Given the description of an element on the screen output the (x, y) to click on. 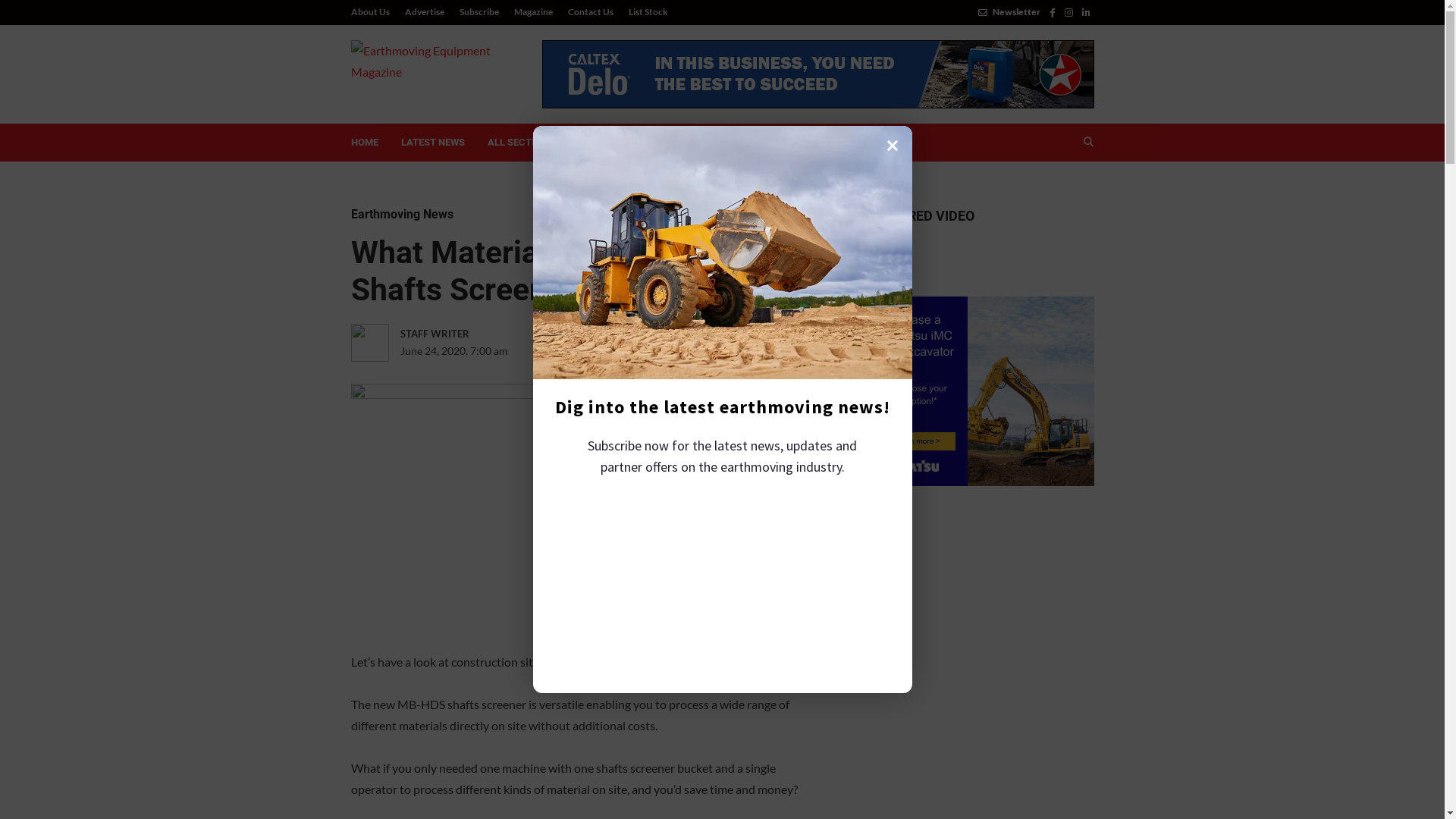
STAFF WRITER Element type: text (465, 333)
3rd party ad content Element type: hover (817, 74)
Subscribe Element type: text (478, 11)
Share on Facebook Element type: hover (604, 350)
Share on Copy Link Element type: hover (759, 350)
List Stock Element type: text (643, 11)
Earthmoving News Element type: text (401, 214)
Close Element type: hover (892, 144)
Newsletter Signup Element type: hover (979, 683)
CASE STUDY Element type: text (784, 142)
Share on Email Element type: hover (728, 350)
Newsletter Element type: text (1009, 11)
ON THE COVER Element type: text (698, 142)
3rd party ad content Element type: hover (979, 391)
Share on Print Element type: hover (697, 350)
Advertise Element type: text (424, 11)
ALL SECTIONS Element type: text (528, 142)
MARKETPLACE Element type: text (870, 142)
HOME Element type: text (364, 142)
Magazine Element type: text (533, 11)
EVENTS Element type: text (615, 142)
Share on Twitter Element type: hover (635, 350)
LATEST NEWS Element type: text (432, 142)
About Us Element type: text (373, 11)
Contact Us Element type: text (589, 11)
Share on LinkedIn Element type: hover (666, 350)
